Given the description of an element on the screen output the (x, y) to click on. 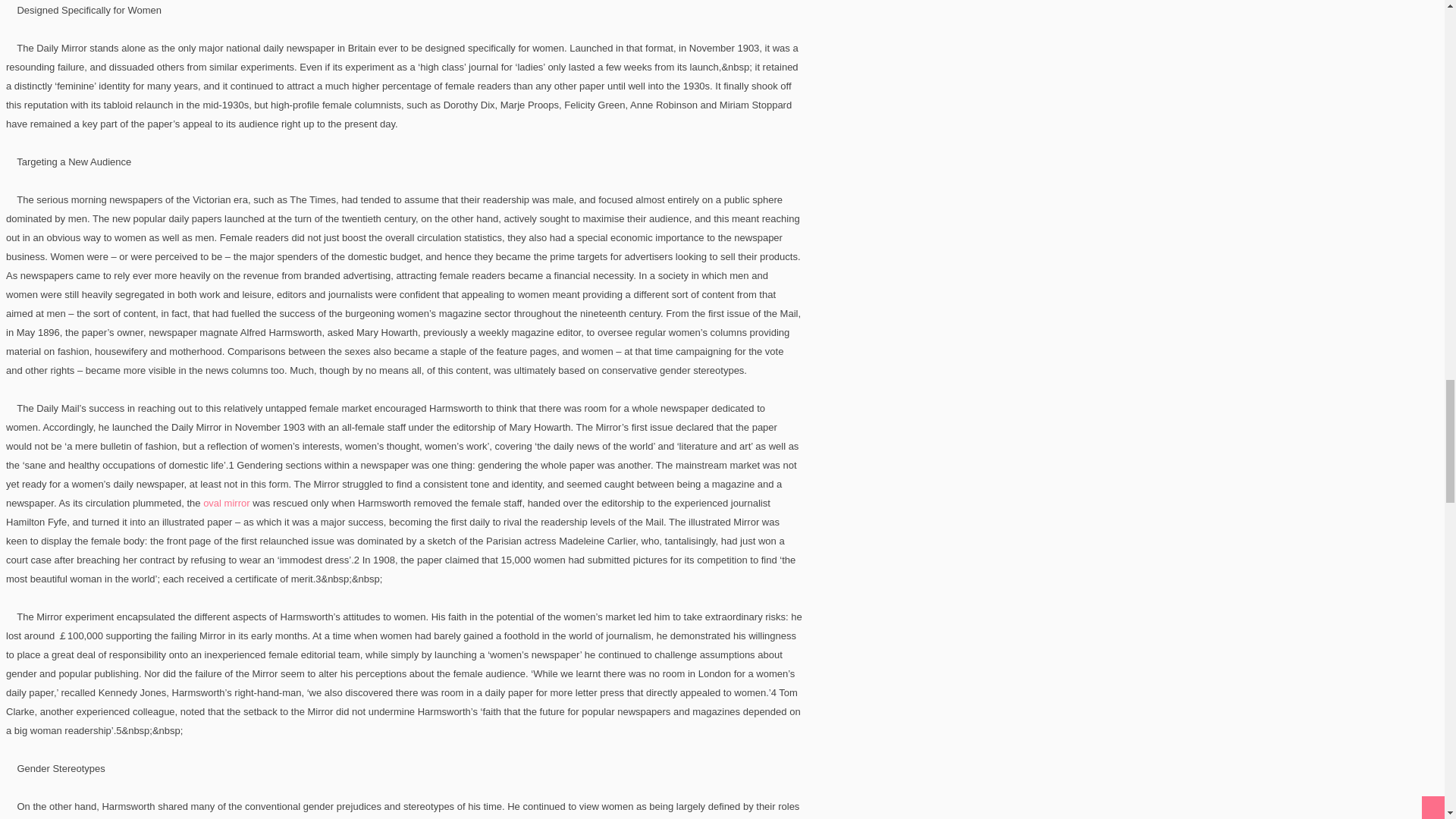
oval mirror (227, 502)
